Given the description of an element on the screen output the (x, y) to click on. 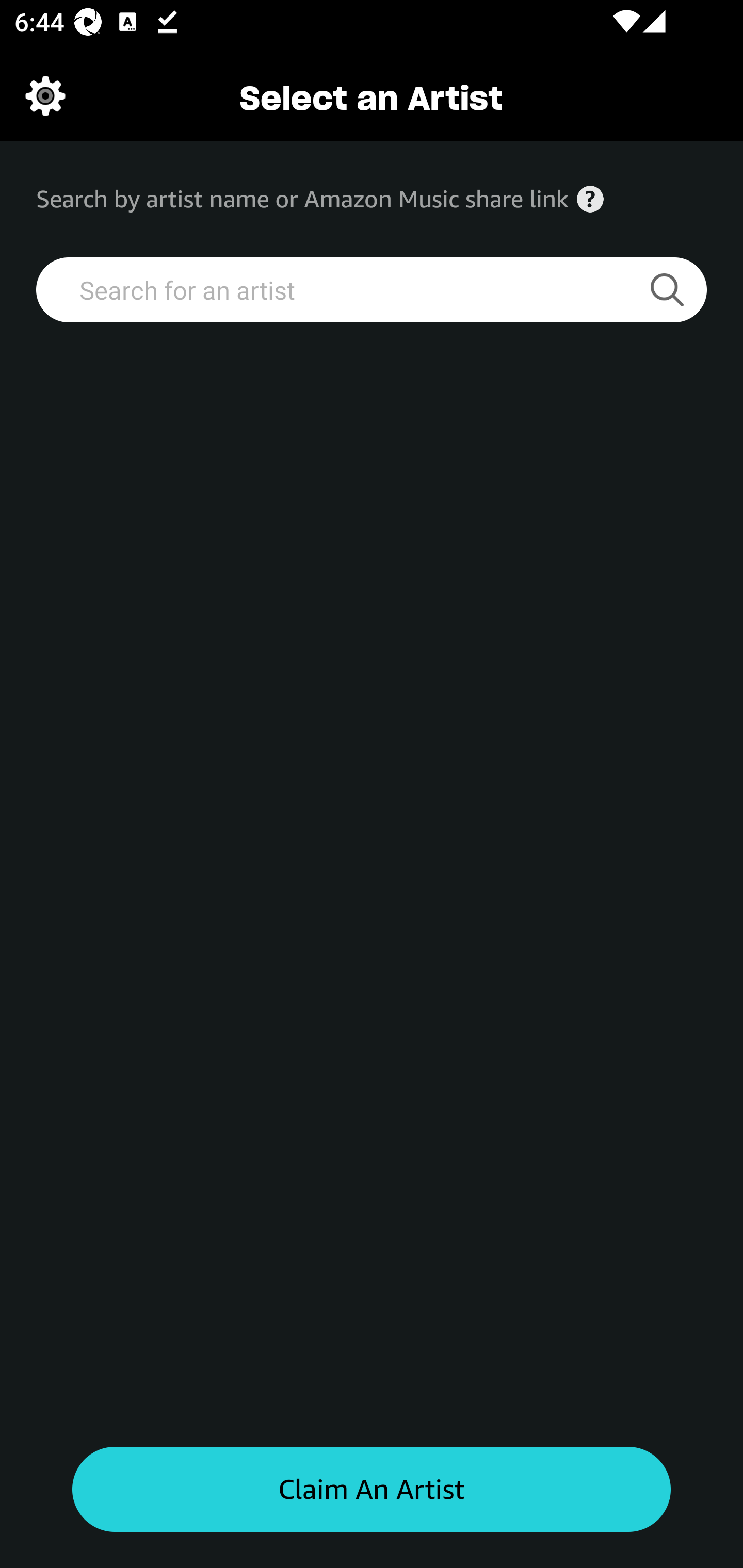
Help  icon (589, 199)
Claim an artist button Claim An Artist (371, 1489)
